Given the description of an element on the screen output the (x, y) to click on. 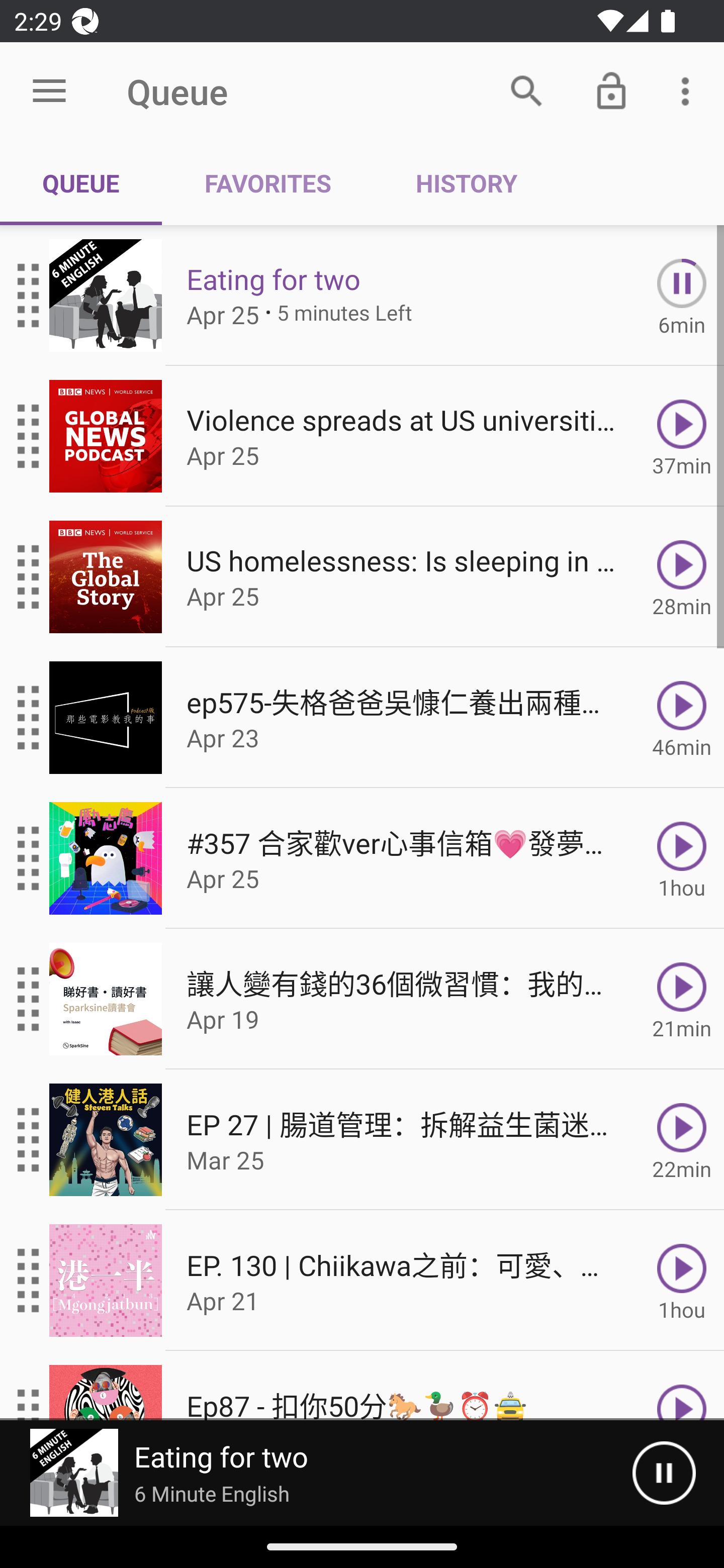
Open menu (49, 91)
Search (526, 90)
Lock Queue (611, 90)
More options (688, 90)
QUEUE (81, 183)
FAVORITES (267, 183)
HISTORY (465, 183)
Play 6min (681, 295)
Play 37min (681, 435)
Play 28min (681, 576)
Play 46min (681, 717)
Play 1hou (681, 858)
Play 21min (681, 998)
Play 22min (681, 1139)
Play 1hou (681, 1280)
Play (681, 1385)
Picture Eating for two 6 Minute English (316, 1472)
Pause (663, 1472)
